Given the description of an element on the screen output the (x, y) to click on. 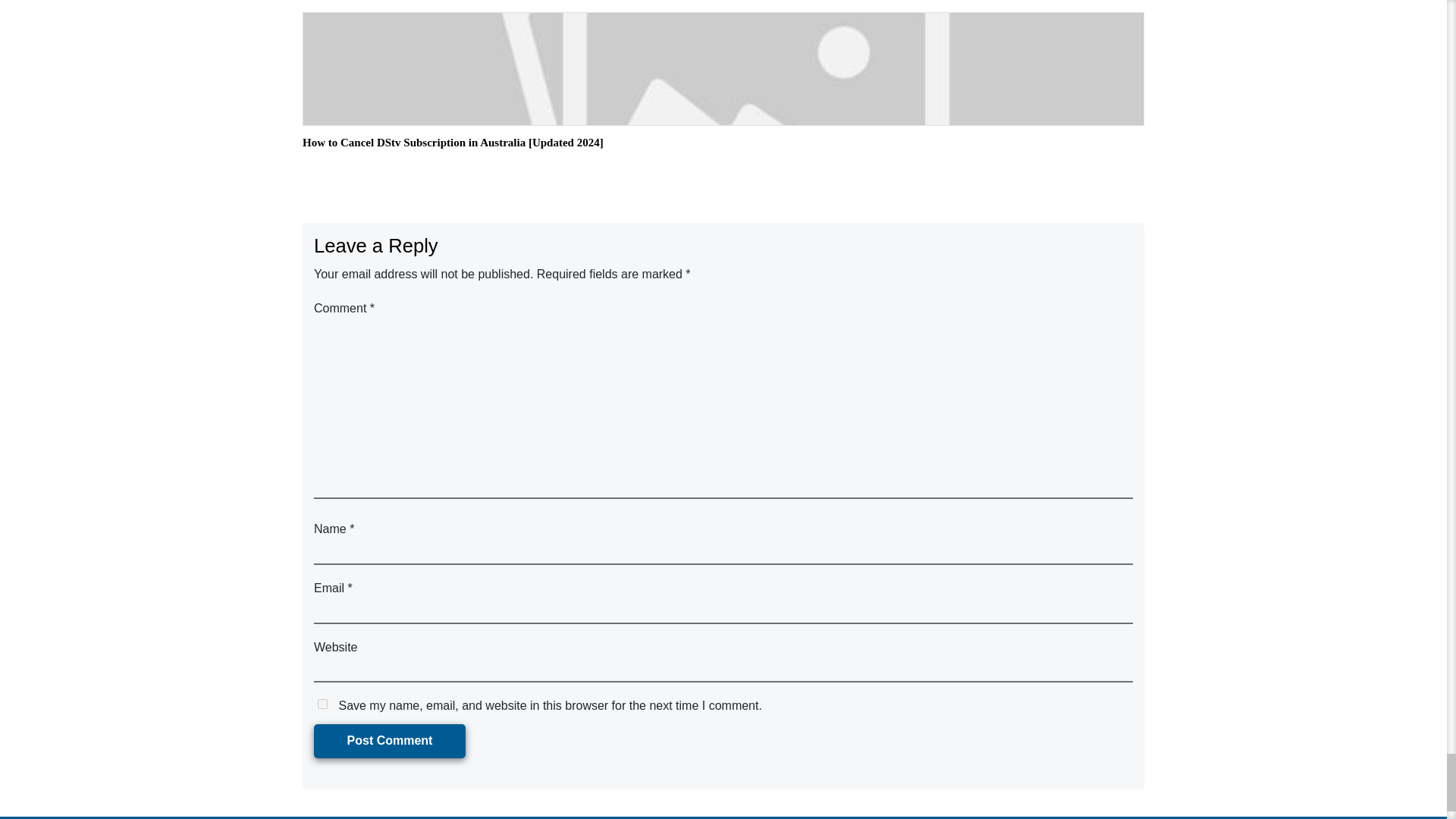
Post Comment (389, 740)
yes (322, 704)
